Given the description of an element on the screen output the (x, y) to click on. 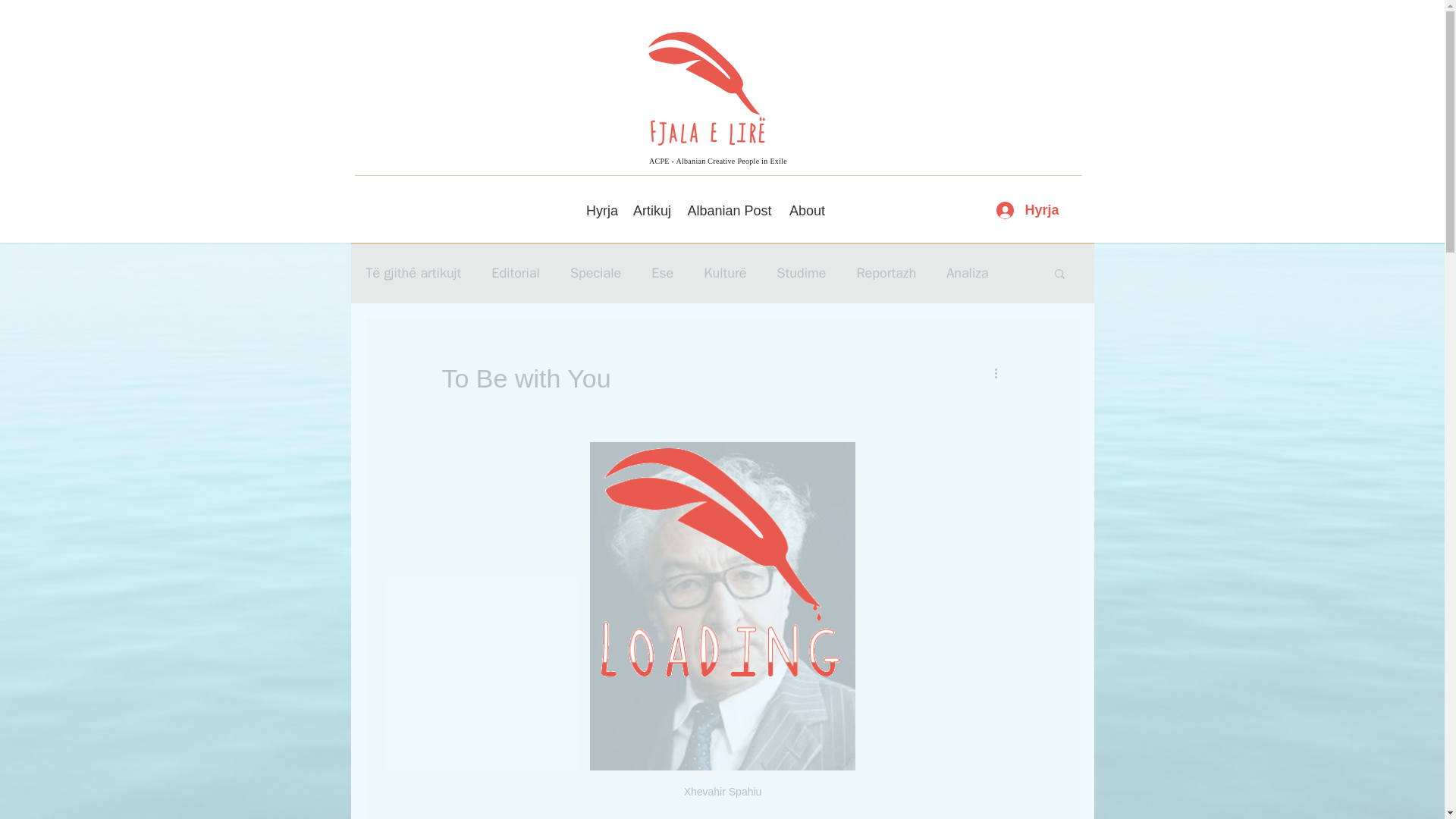
Artikuj (652, 210)
Speciale (595, 272)
Hyrja (602, 210)
About (807, 210)
Reportazh (885, 272)
Albanian Post (729, 210)
Hyrja (1026, 210)
Ese (661, 272)
Studime (800, 272)
Analiza (967, 272)
Editorial (516, 272)
